Given the description of an element on the screen output the (x, y) to click on. 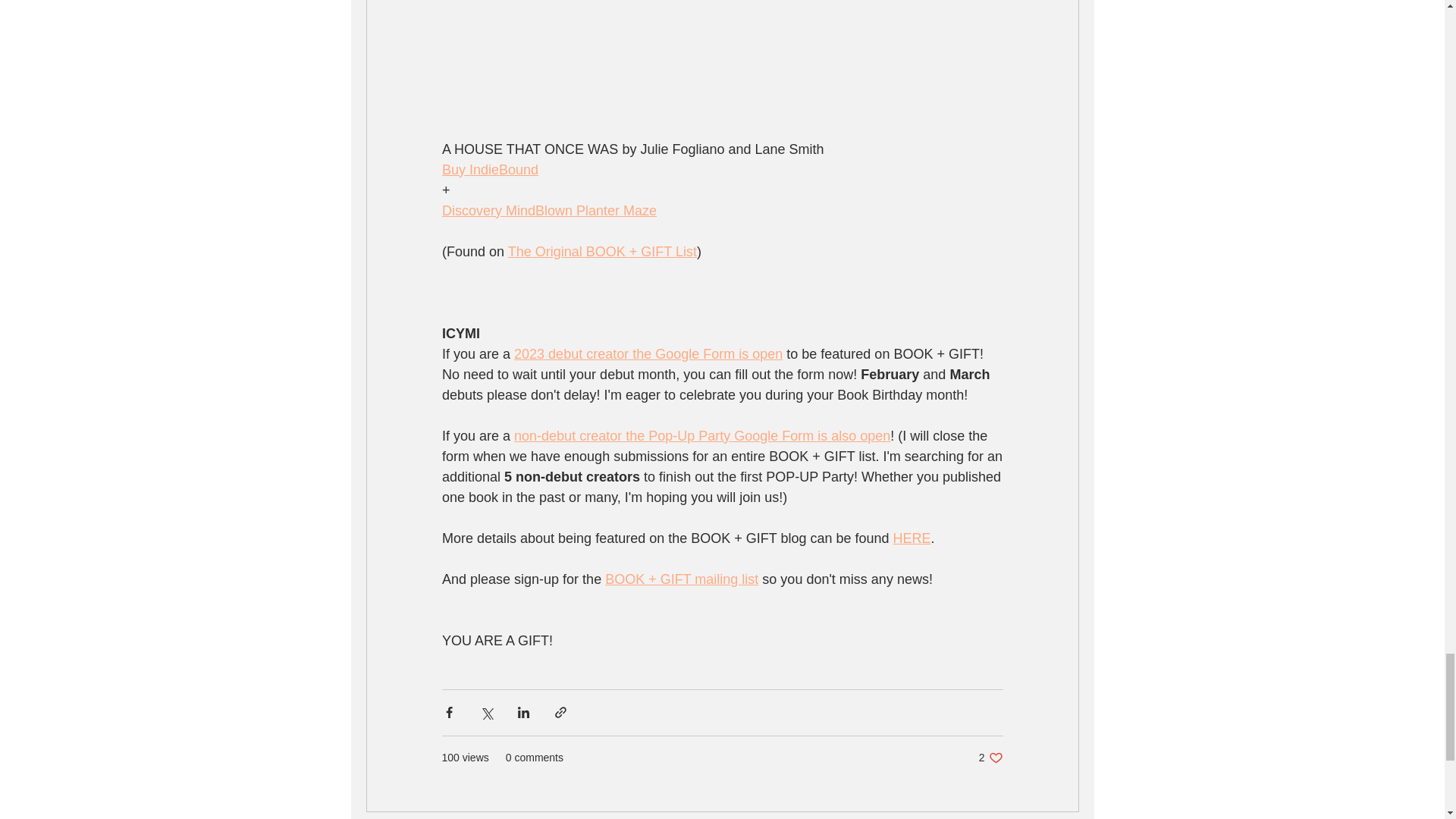
Buy IndieBound (489, 169)
2023 debut creator the Google Form is open (648, 353)
Discovery MindBlown Planter Maze (548, 210)
HERE (911, 538)
non-debut creator the Pop-Up Party Google Form is also open (701, 435)
